Given the description of an element on the screen output the (x, y) to click on. 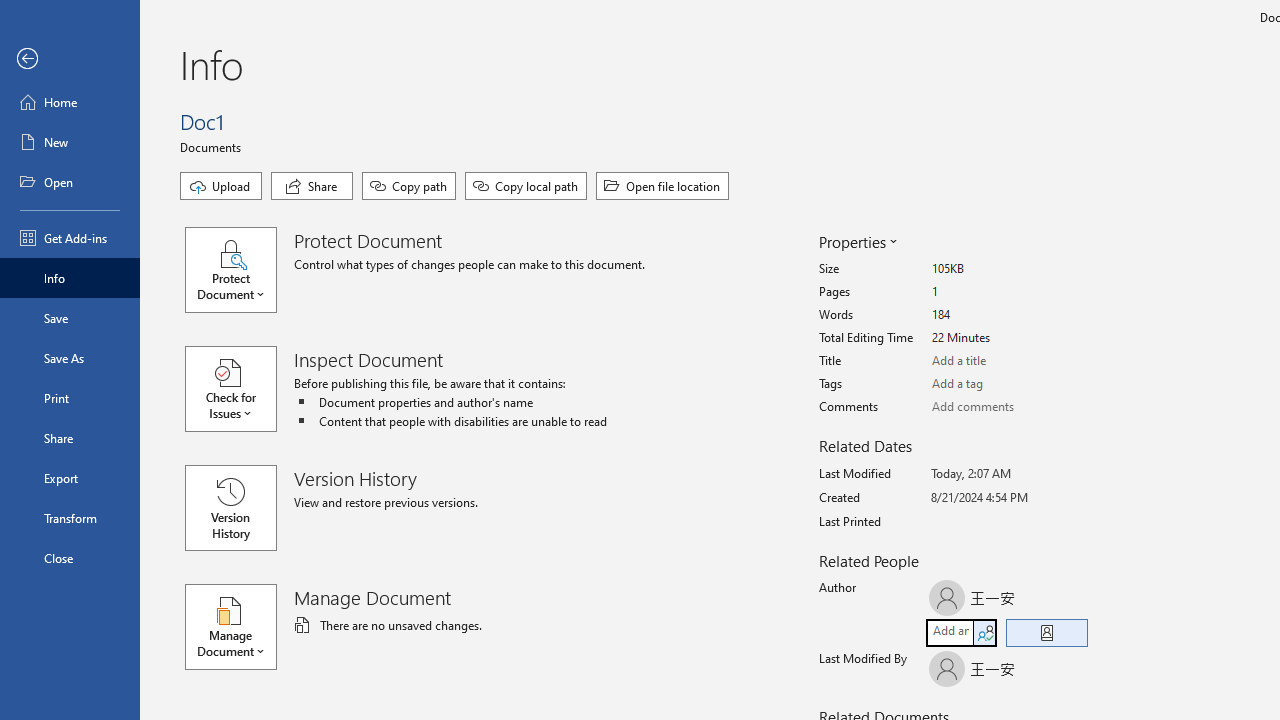
Save As (69, 357)
Check for Issues (239, 389)
Pages (1006, 291)
Total Editing Time (1006, 338)
New (69, 141)
Open (69, 182)
